Given the description of an element on the screen output the (x, y) to click on. 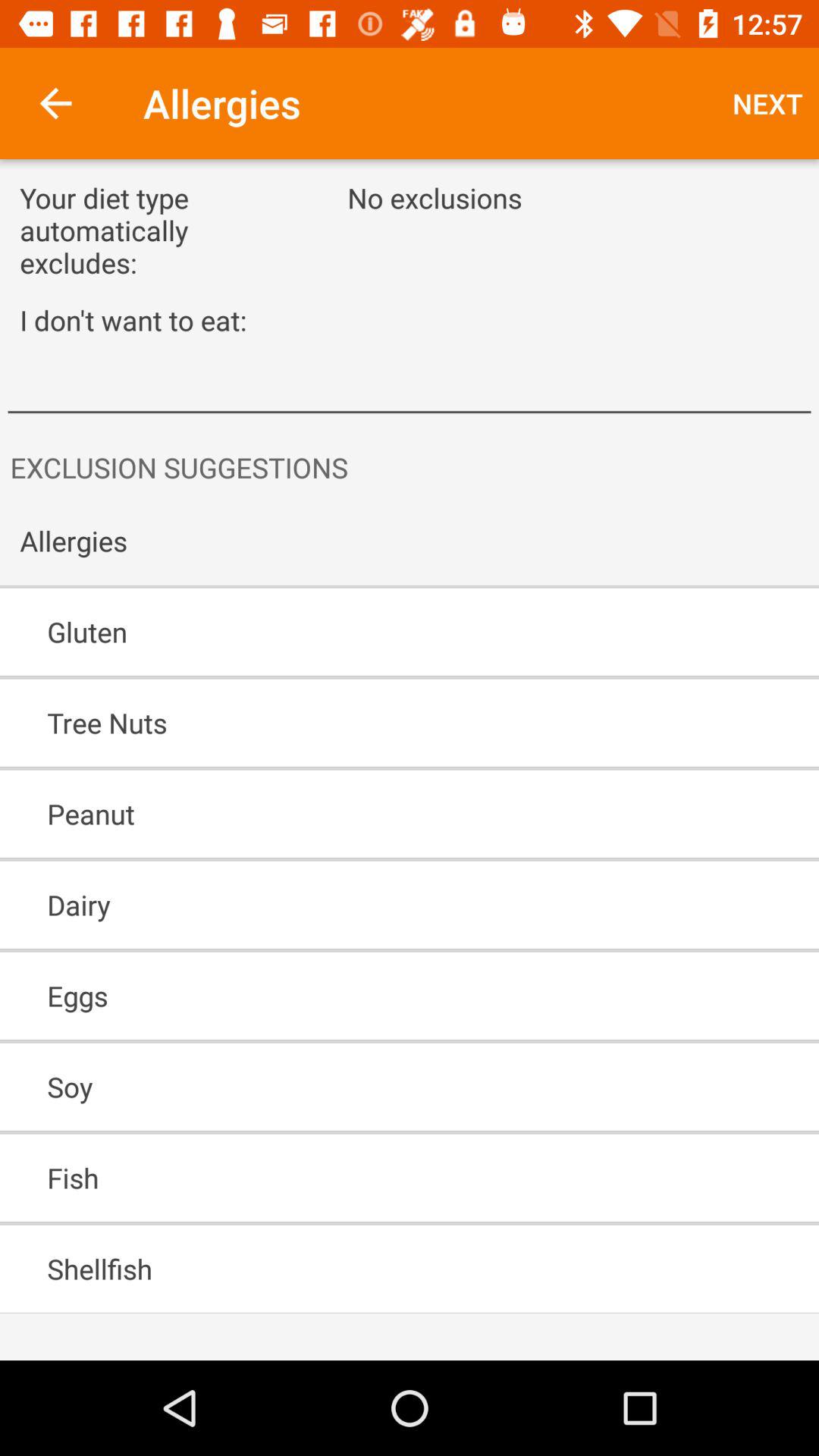
turn off icon next to the your diet type item (767, 103)
